Given the description of an element on the screen output the (x, y) to click on. 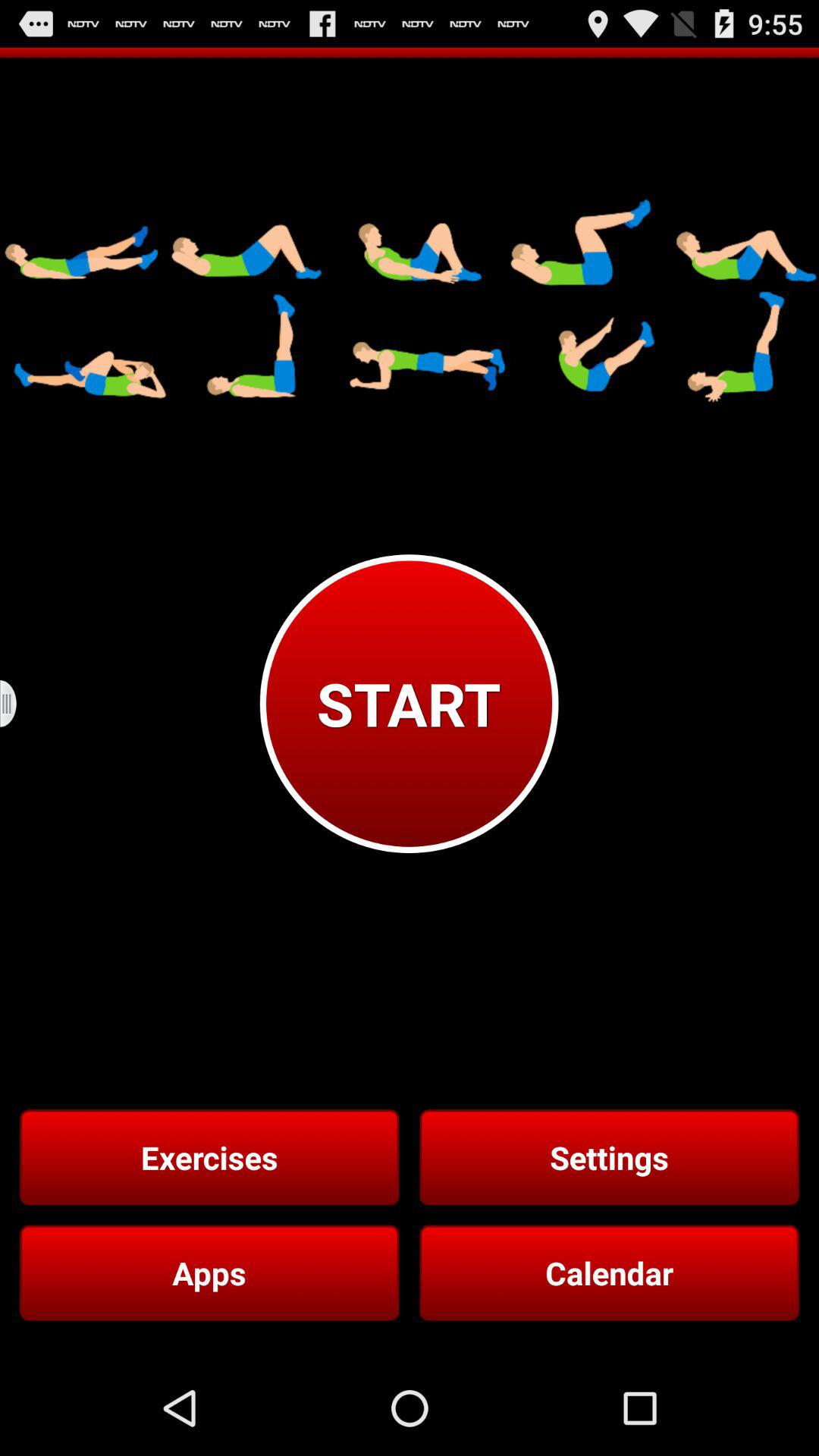
swipe to settings (609, 1157)
